Given the description of an element on the screen output the (x, y) to click on. 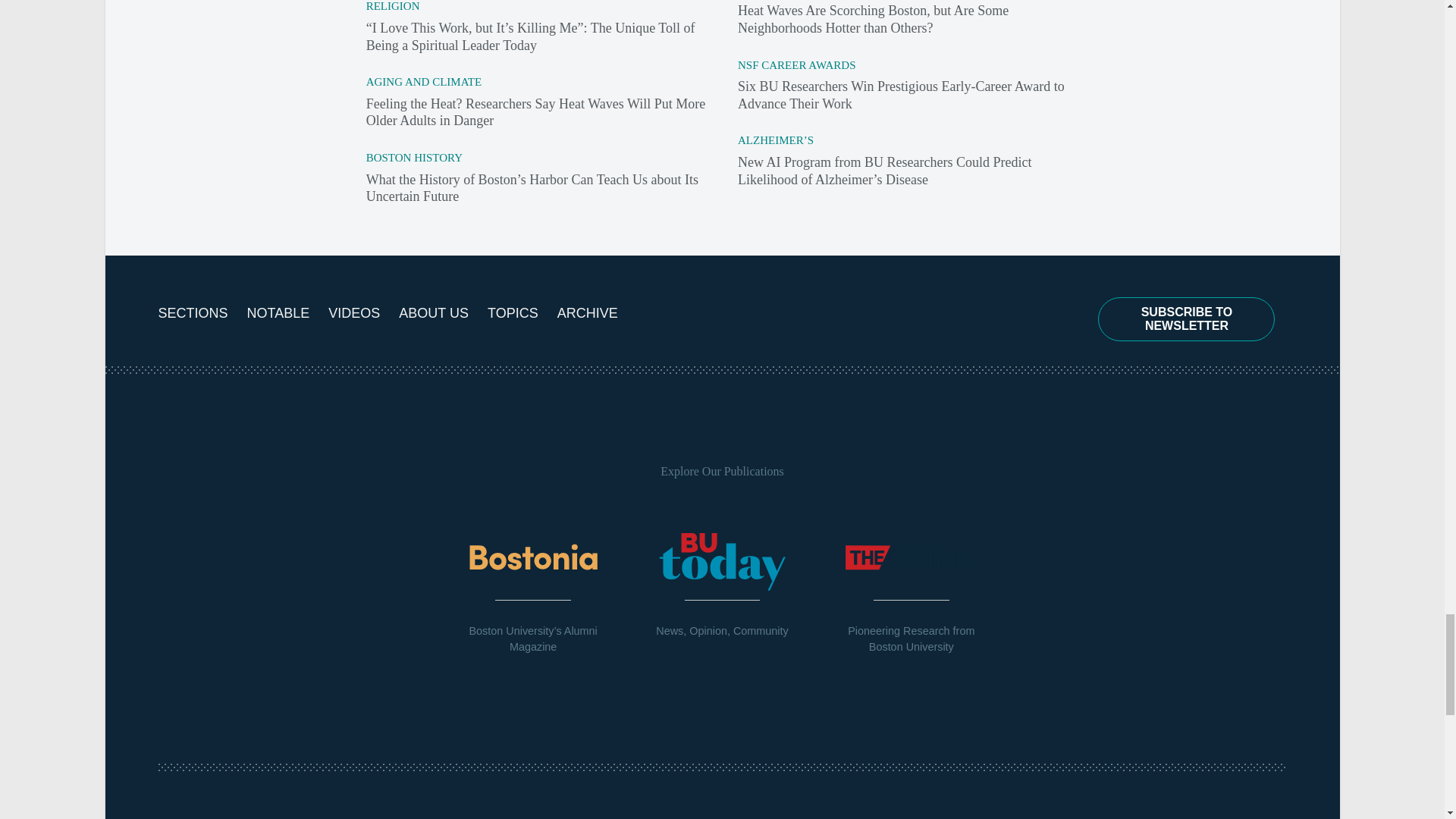
Navigate to: About Us (433, 313)
Navigate to: Archive (588, 313)
Navigate to: Topics (513, 313)
Navigate to: Notable (278, 313)
Navigate to: Sections (191, 313)
Navigate to: Videos (353, 313)
